Given the description of an element on the screen output the (x, y) to click on. 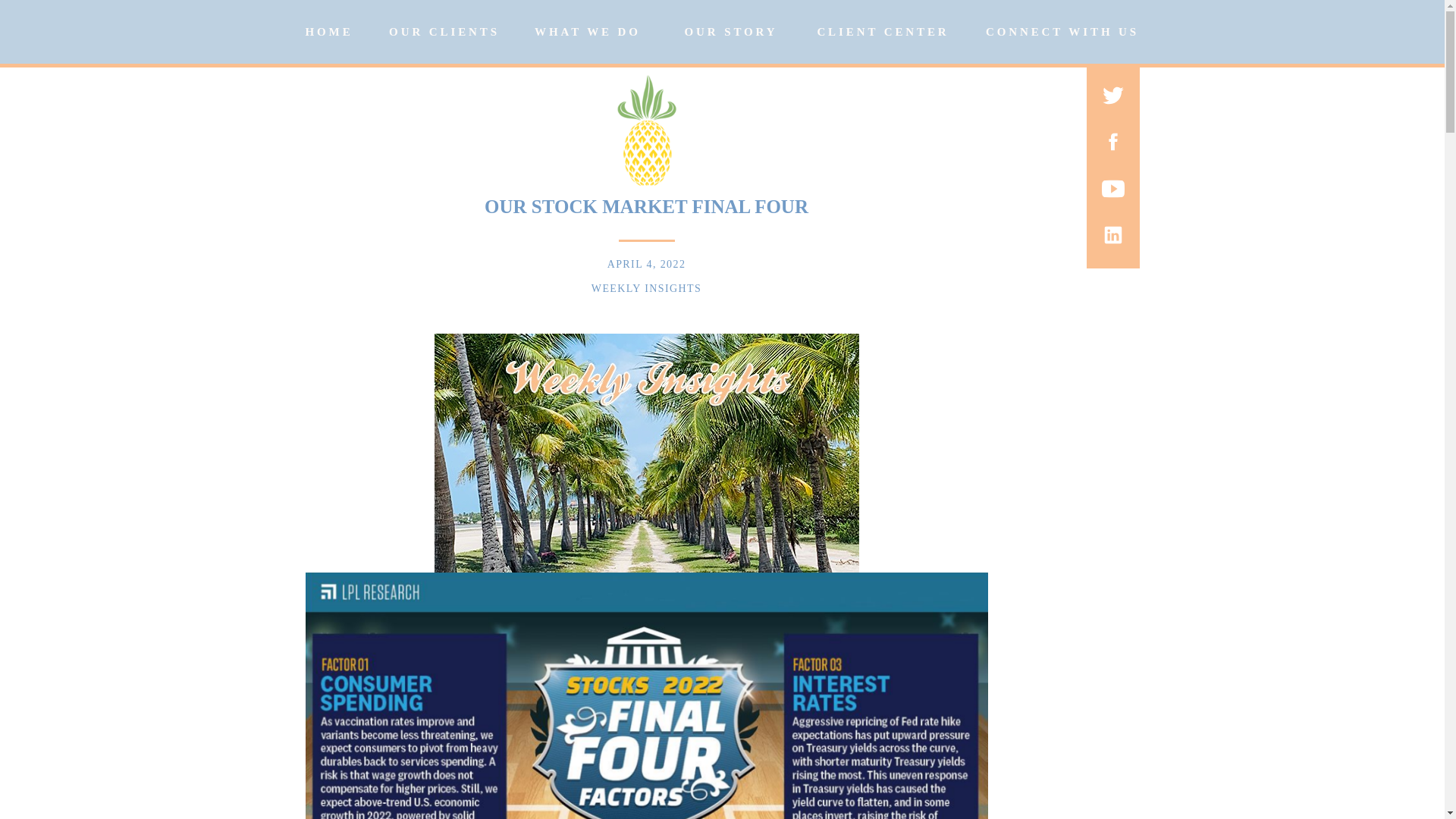
CONNECT WITH US (1061, 31)
WEEKLY INSIGHTS (646, 288)
OUR STORY (730, 31)
WHAT WE DO (586, 31)
HOME (328, 32)
CLIENT CENTER (881, 31)
OUR CLIENTS (444, 31)
